Given the description of an element on the screen output the (x, y) to click on. 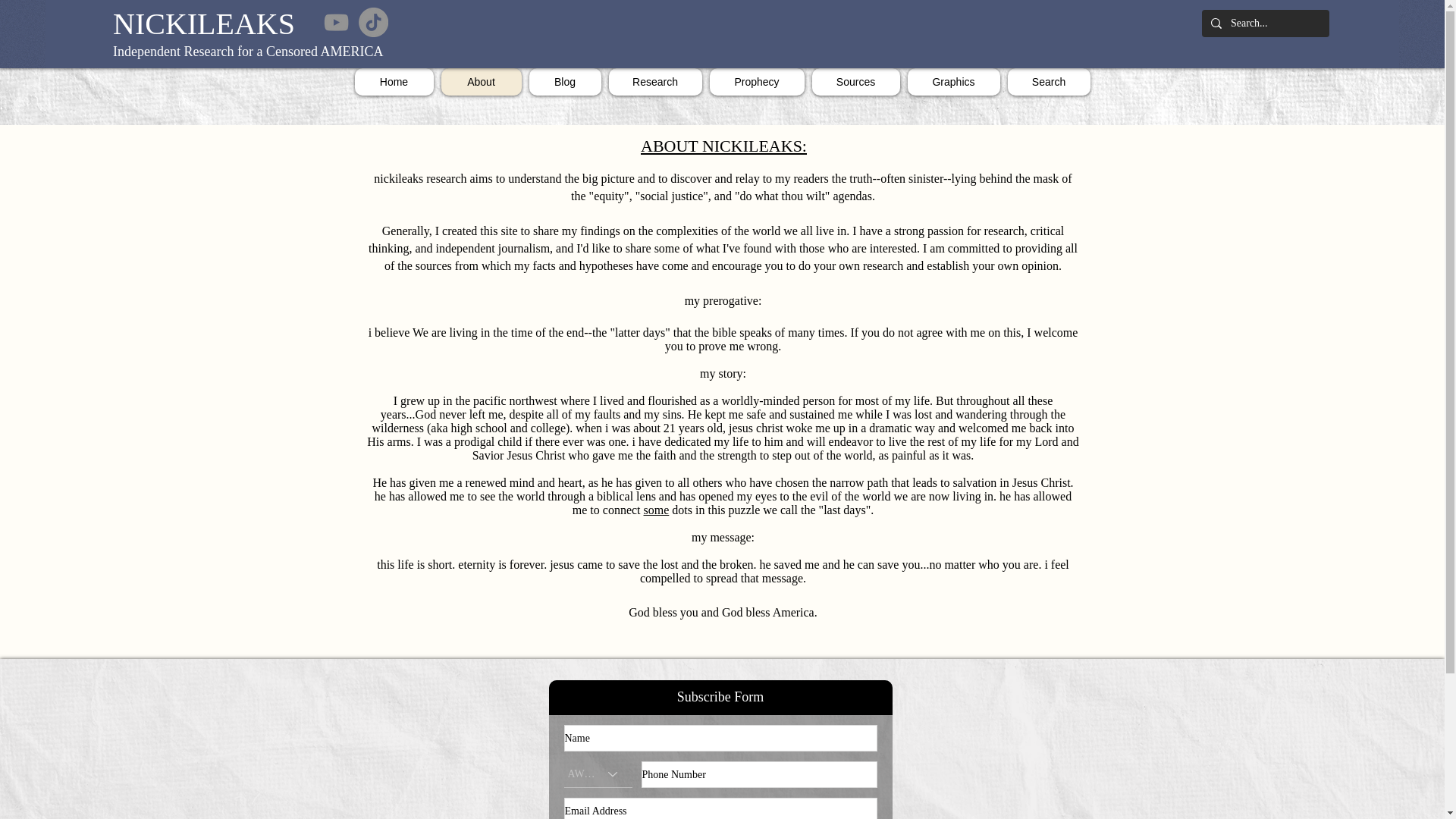
Blog (565, 81)
Home (394, 81)
NICKILEAKS (204, 23)
About (481, 81)
Research (654, 81)
